Given the description of an element on the screen output the (x, y) to click on. 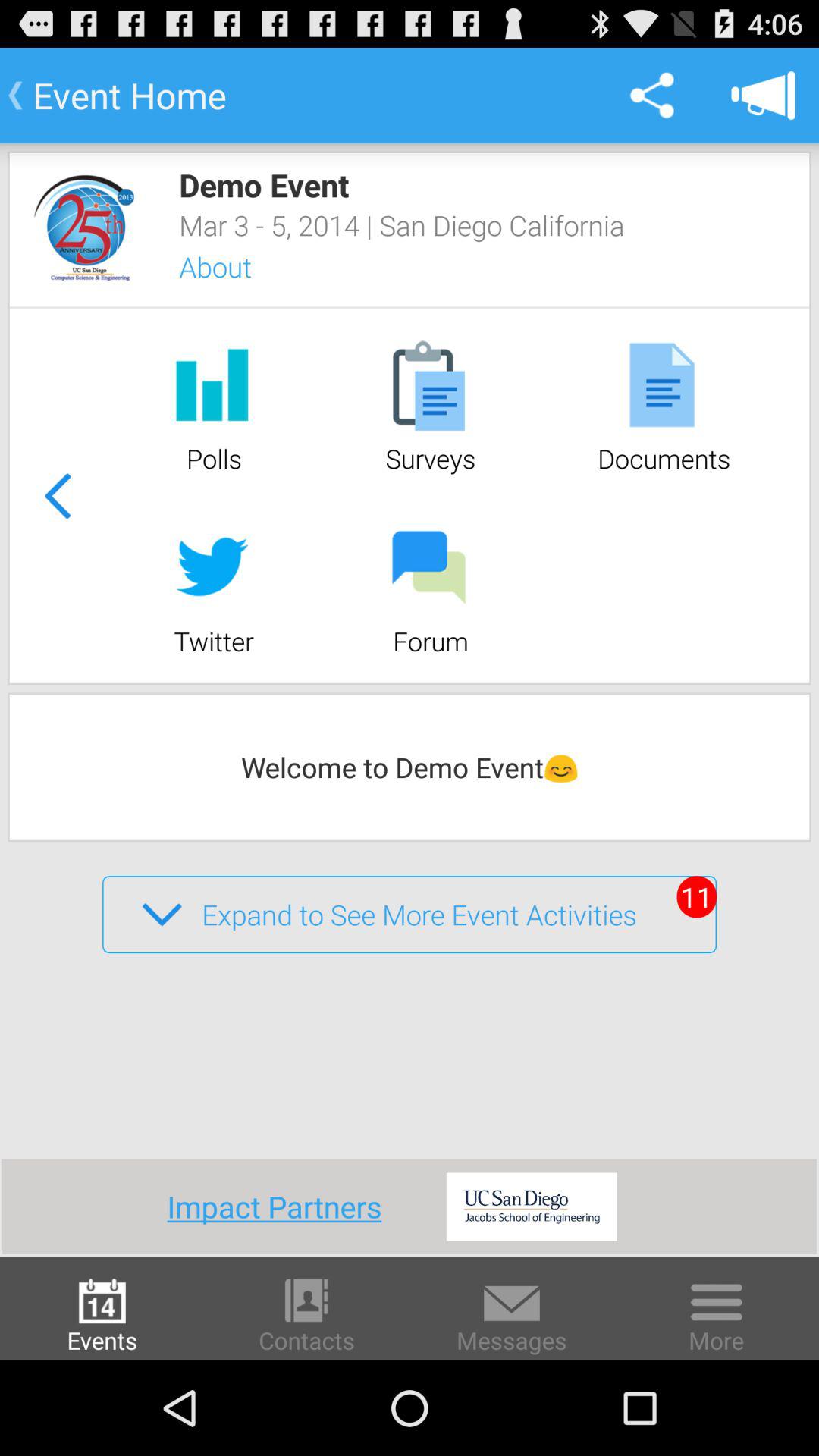
go back (57, 495)
